Given the description of an element on the screen output the (x, y) to click on. 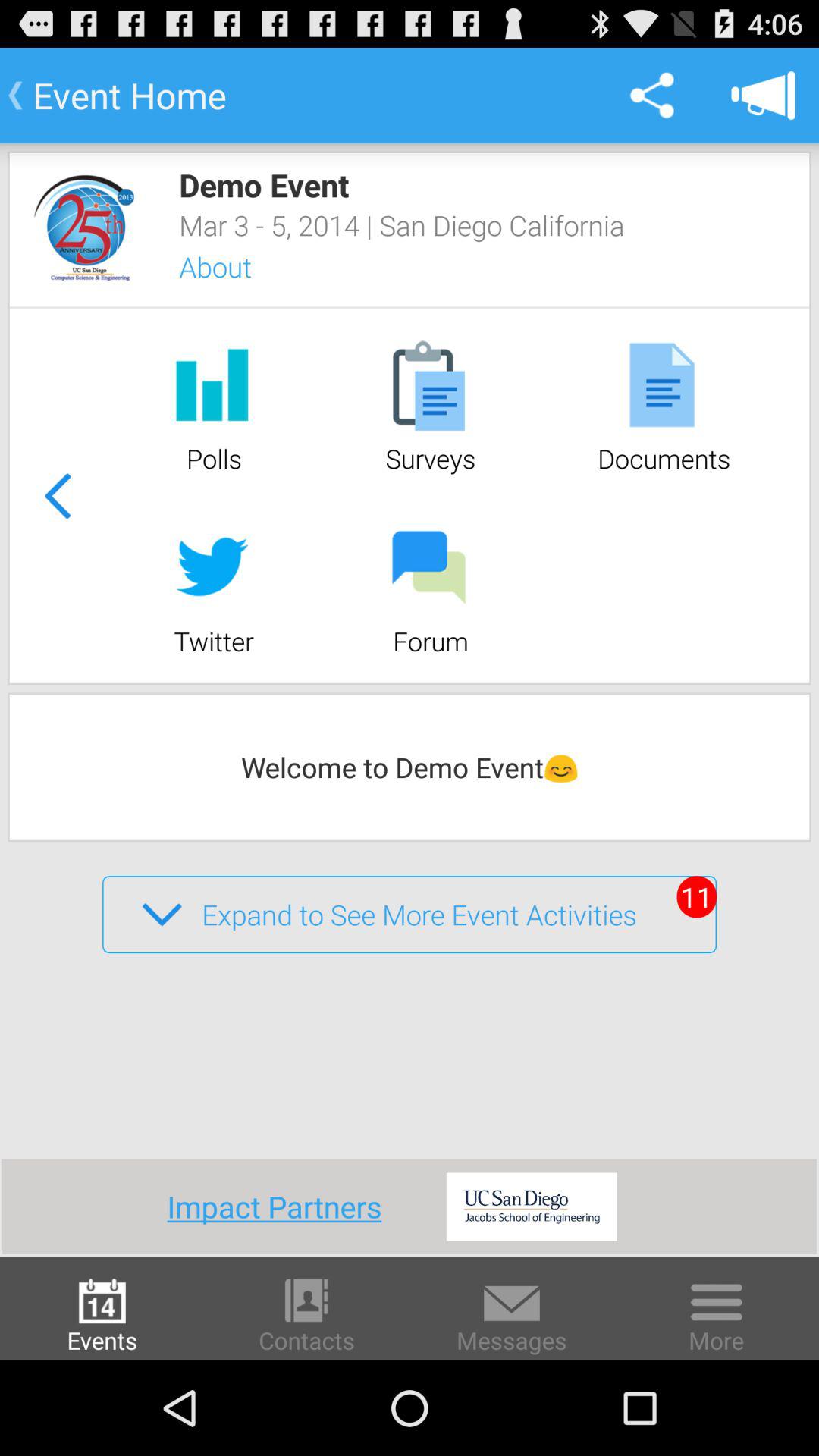
go back (57, 495)
